Given the description of an element on the screen output the (x, y) to click on. 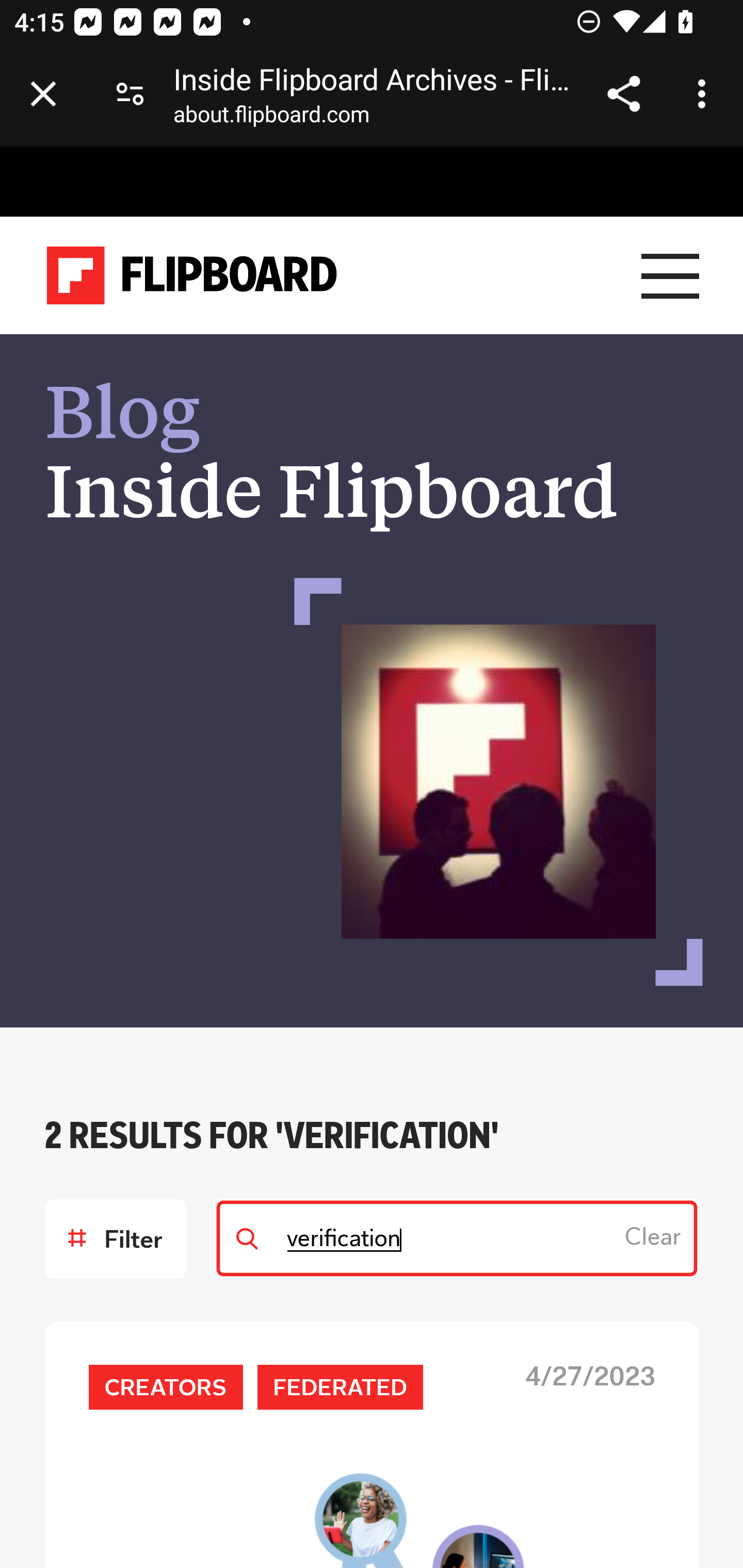
Close tab (43, 93)
Share link address (623, 93)
Customize and control Google Chrome (705, 93)
Connection is secure (129, 93)
about.flipboard.com (271, 117)
Flipboard Logo (192, 276)
 Filter (114, 1237)
verification (456, 1237)
Clear (656, 1238)
CREATORS (164, 1386)
FEDERATED (340, 1386)
